Given the description of an element on the screen output the (x, y) to click on. 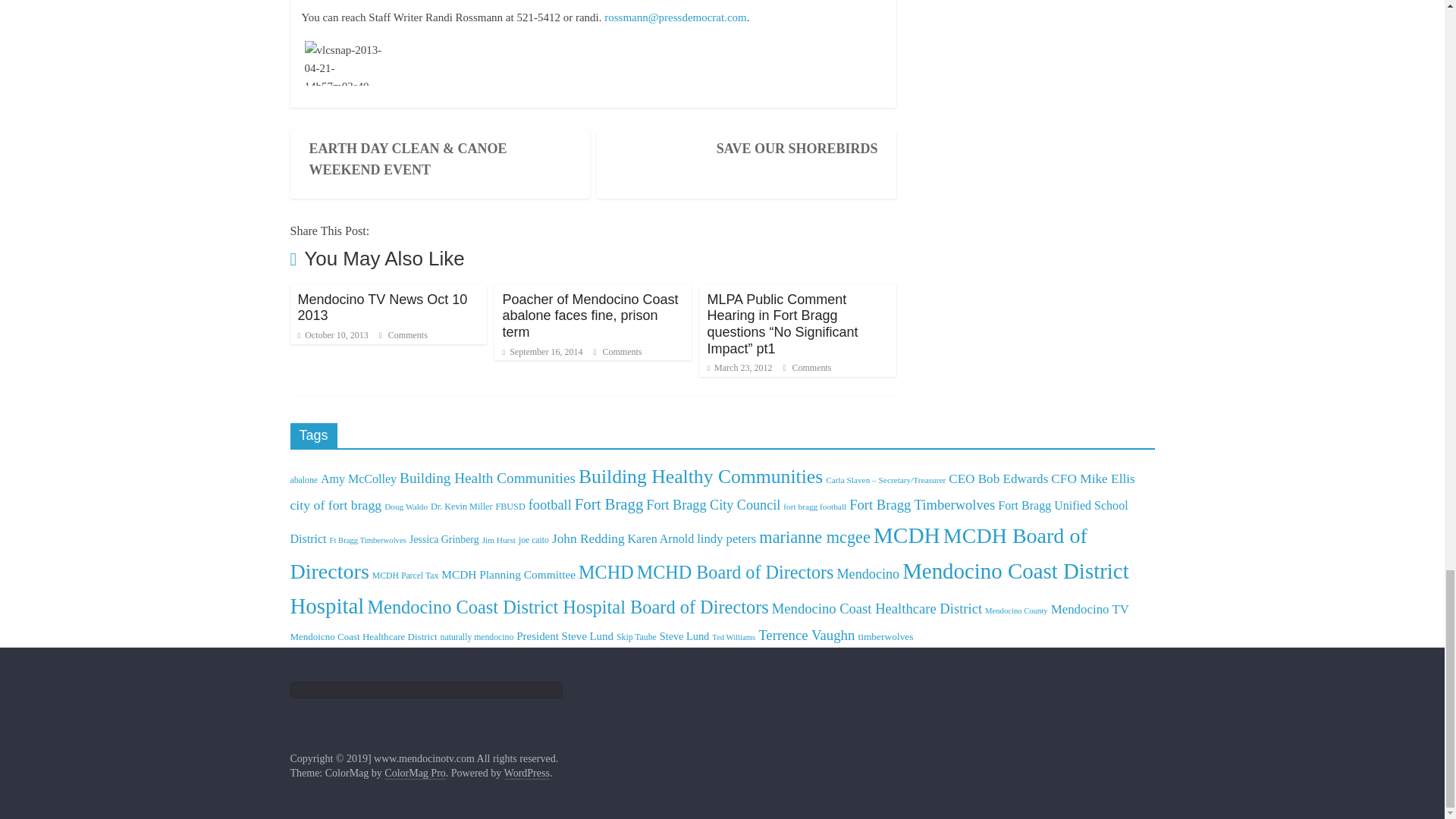
8:39 pm (332, 335)
Mendocino TV News Oct 10 2013 (382, 307)
Poacher of Mendocino Coast abalone faces fine, prison term (590, 315)
2:04 am (542, 351)
